Given the description of an element on the screen output the (x, y) to click on. 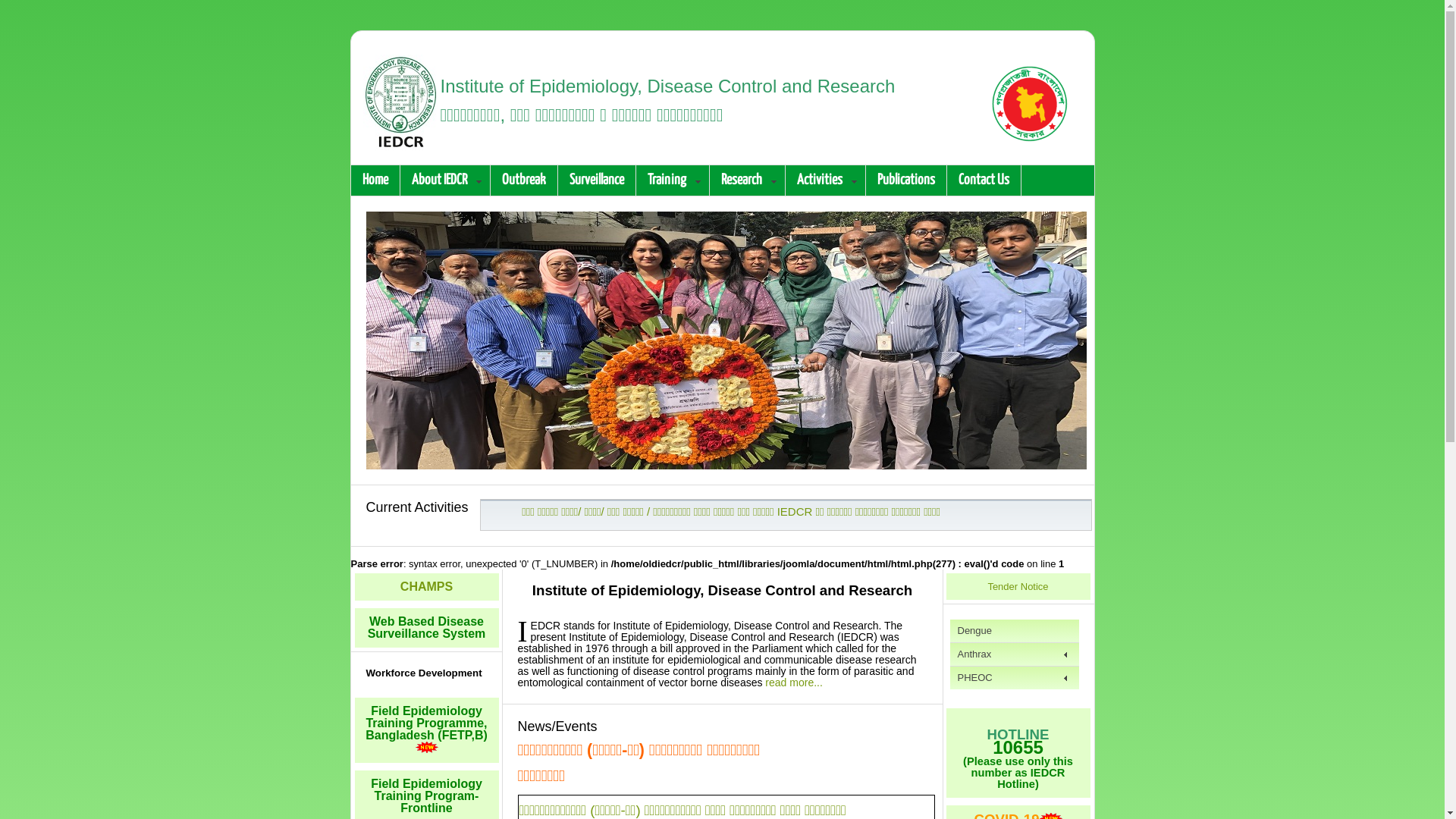
CHAMPS Element type: text (426, 586)
Dengue Element type: text (1013, 630)
Contact Us Element type: text (983, 180)
Tender Notice Element type: text (1017, 586)
Web Based Disease Surveillance System Element type: text (426, 628)
Activities Element type: text (825, 180)
Surveillance Element type: text (597, 180)
Outbreak Element type: text (523, 180)
Home Element type: text (374, 180)
Field Epidemiology Training Program-Frontline Element type: text (426, 795)
Field Epidemiology Training Programme, Bangladesh (FETP,B) Element type: text (426, 729)
About IEDCR Element type: text (445, 180)
Research Element type: text (747, 180)
read more... Element type: text (793, 682)
Publications Element type: text (906, 180)
